Given the description of an element on the screen output the (x, y) to click on. 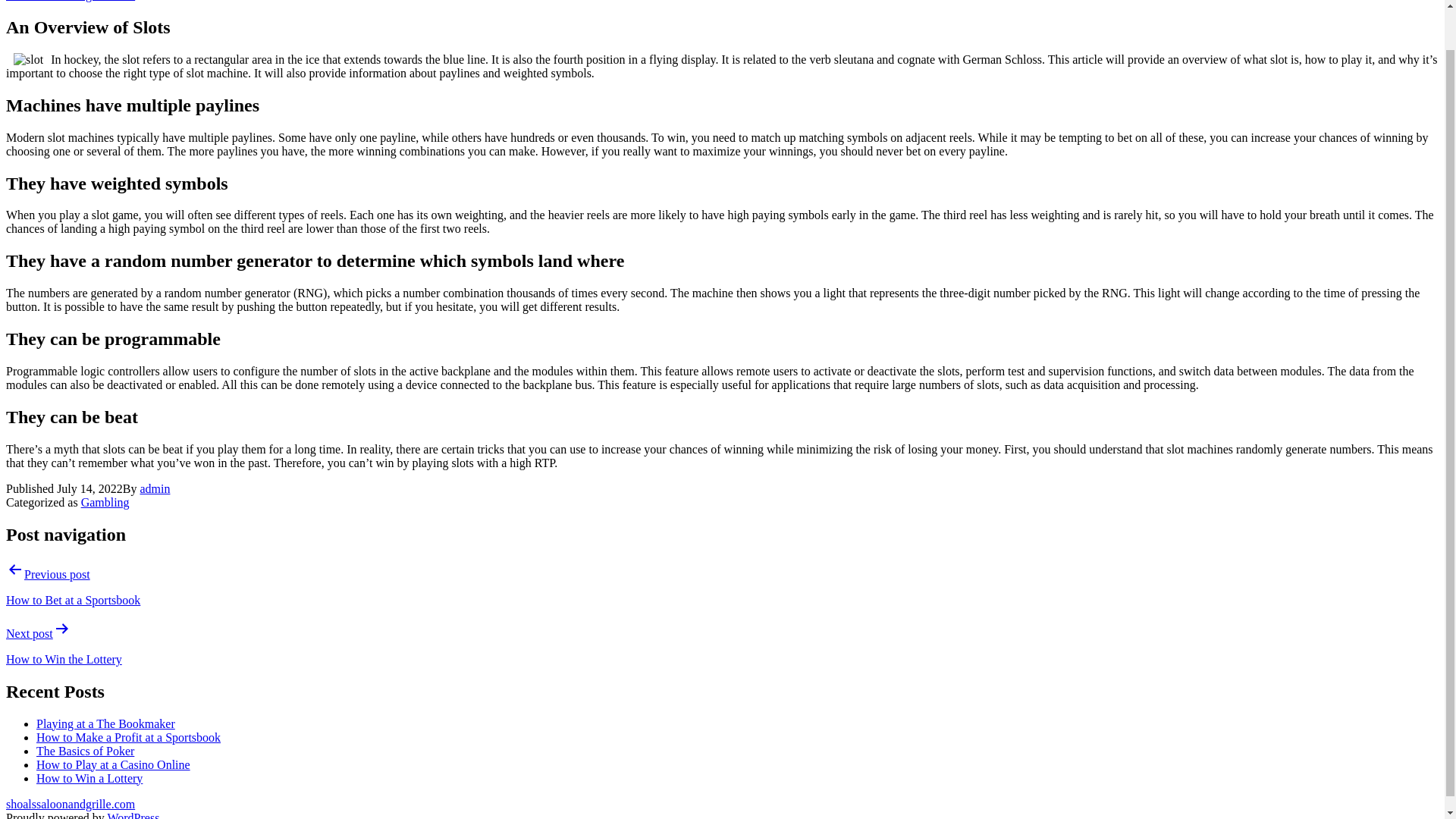
The Basics of Poker (84, 749)
Playing at a The Bookmaker (105, 722)
shoalssaloonandgrille.com (70, 802)
admin (154, 488)
Gambling (105, 502)
How to Make a Profit at a Sportsbook (128, 736)
shoalssaloonandgrille.com (70, 0)
How to Play at a Casino Online (113, 763)
How to Win a Lottery (89, 777)
